Given the description of an element on the screen output the (x, y) to click on. 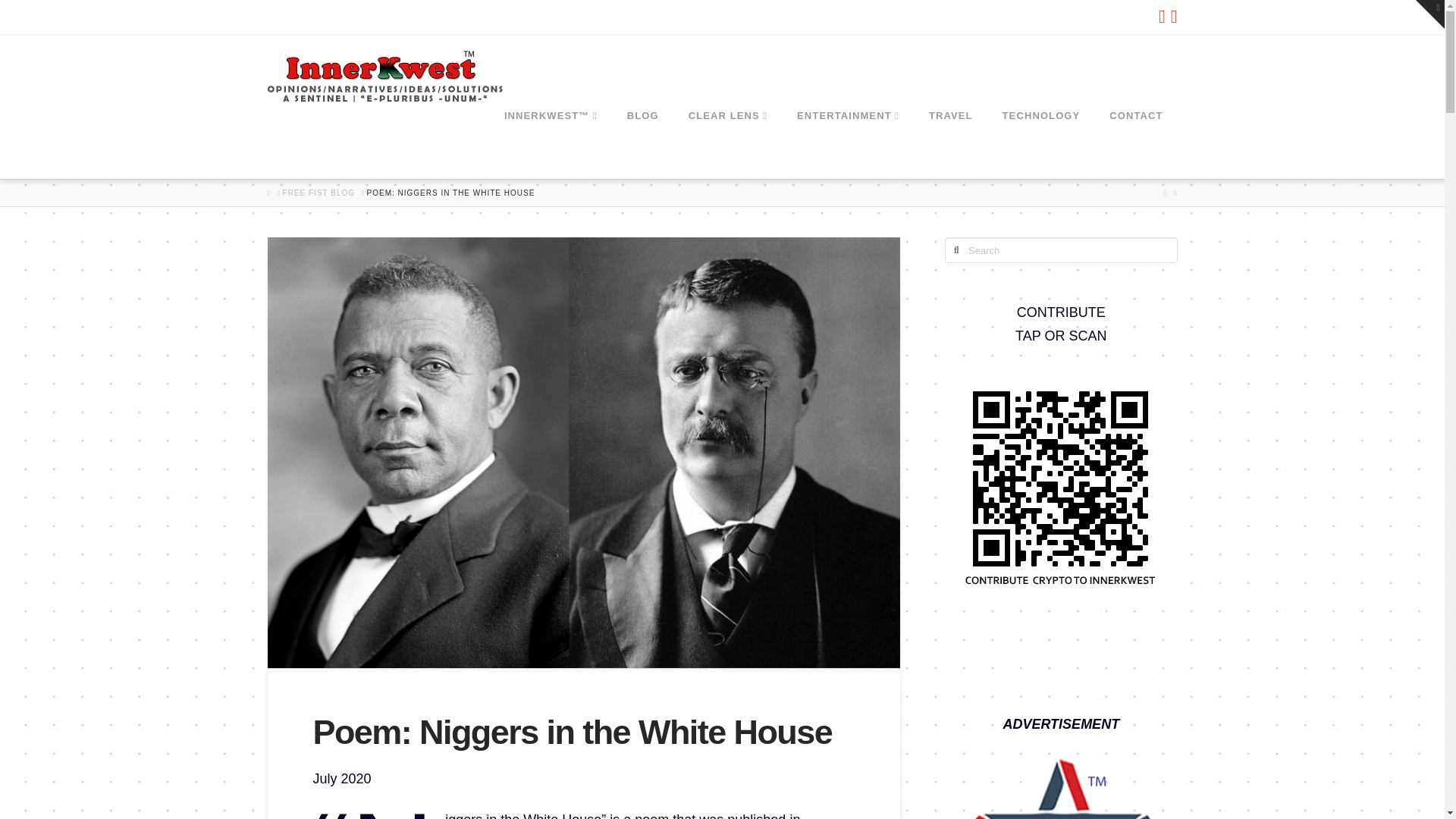
TRAVEL (950, 144)
CLEAR LENS (726, 144)
CONTACT (1135, 144)
ENTERTAINMENT (847, 144)
TECHNOLOGY (1040, 144)
BLOG (641, 144)
You Are Here (450, 193)
